Given the description of an element on the screen output the (x, y) to click on. 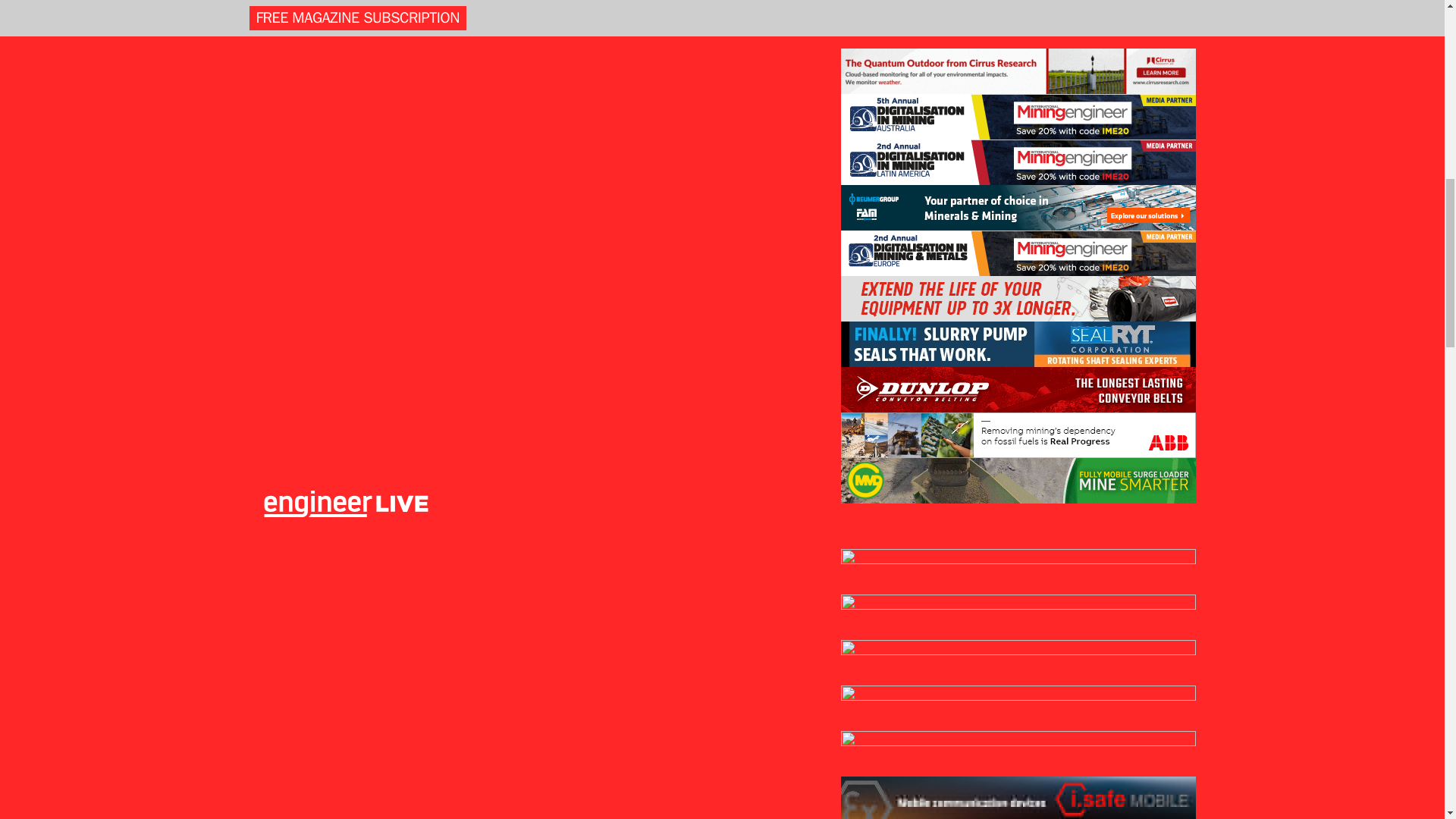
nuclear (1054, 755)
oilandgas (1054, 773)
Process (568, 170)
Mining (410, 170)
Electronics (339, 170)
Suppliers (1136, 170)
Events (1268, 170)
design (1054, 700)
power (1054, 792)
automotive (1054, 664)
